Given the description of an element on the screen output the (x, y) to click on. 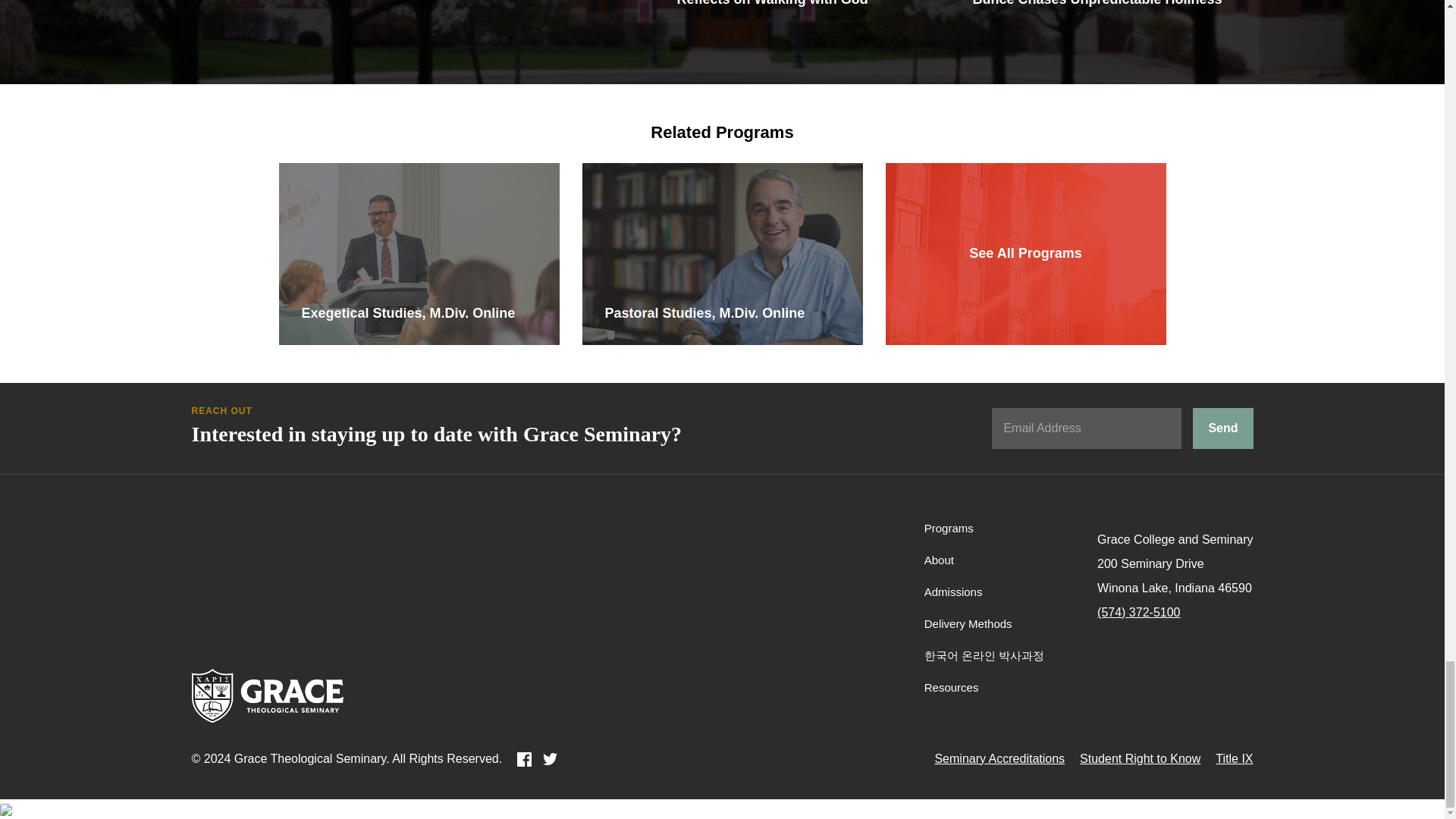
Send (1222, 447)
